Given the description of an element on the screen output the (x, y) to click on. 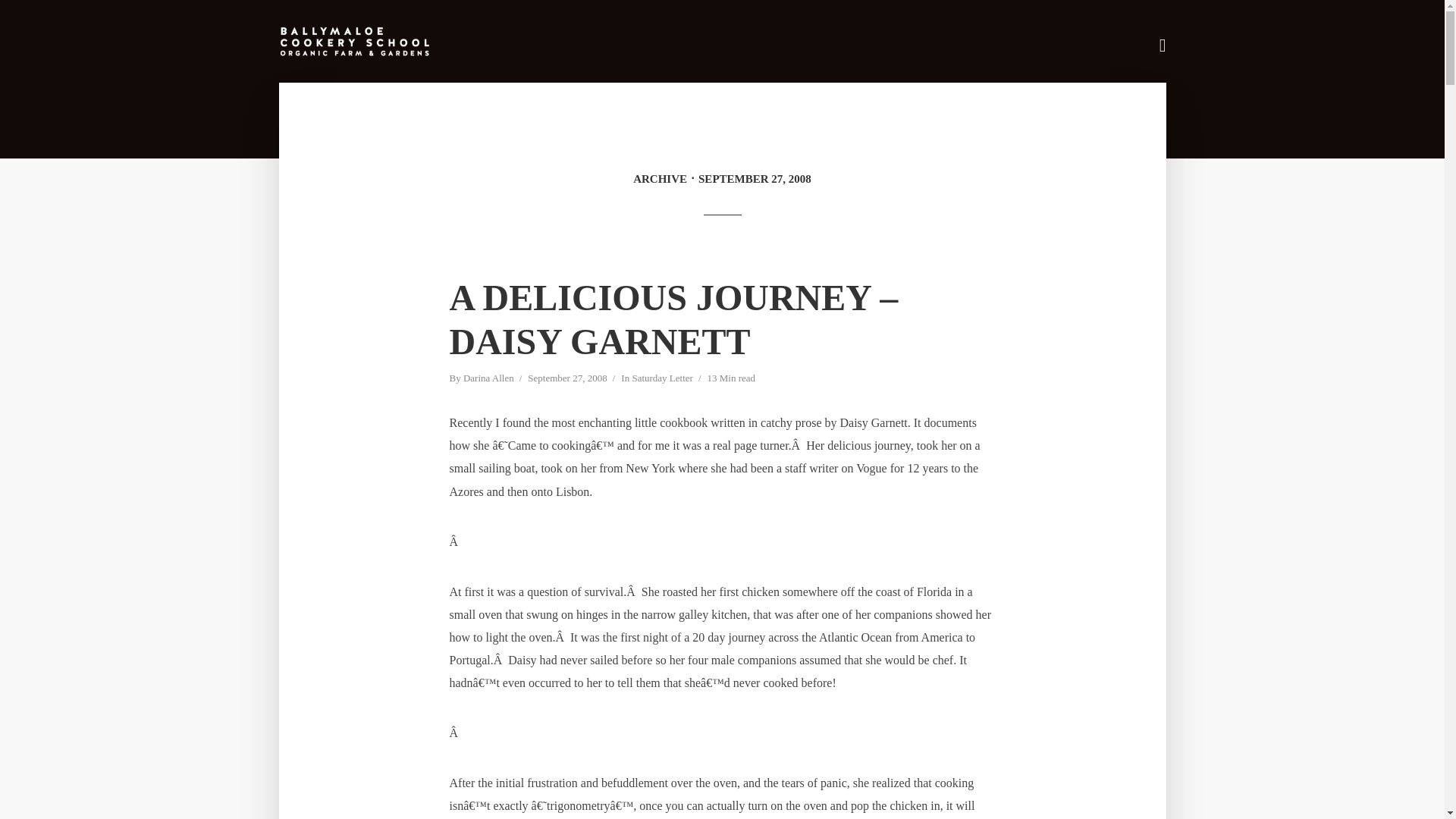
Saturday Letter (662, 379)
Darina Allen (488, 379)
